Given the description of an element on the screen output the (x, y) to click on. 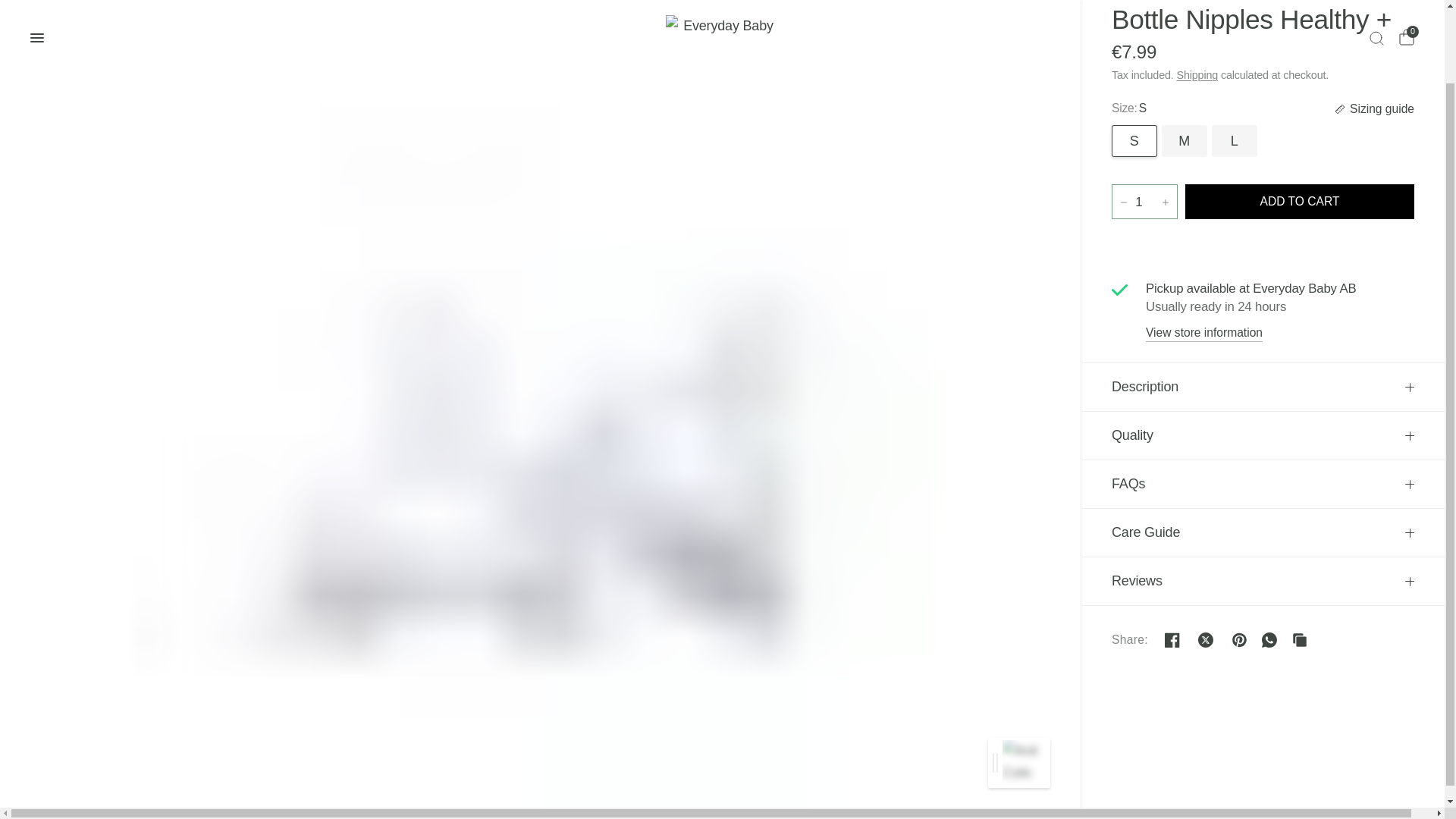
0 (1402, 11)
